Given the description of an element on the screen output the (x, y) to click on. 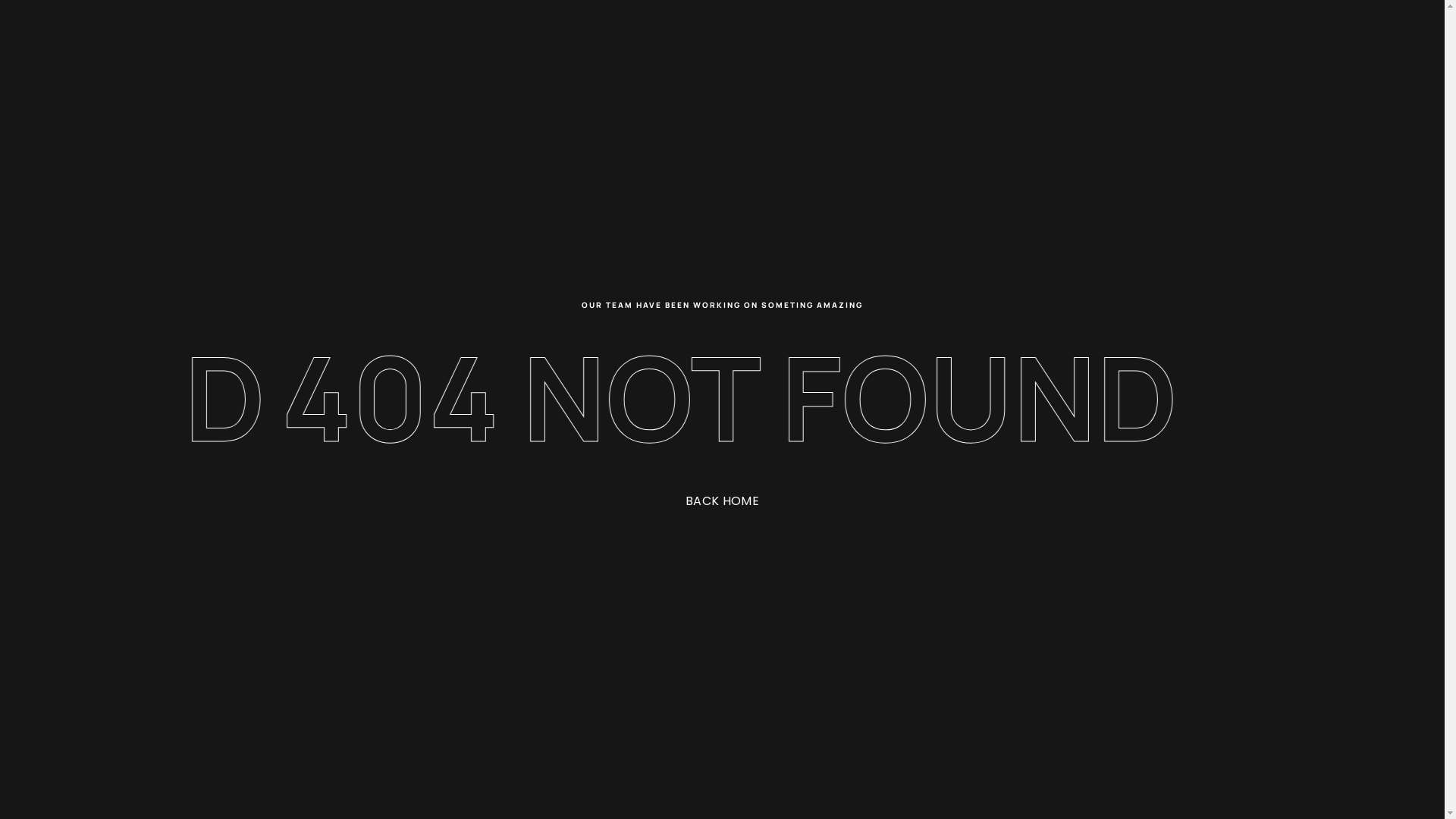
BACK HOME Element type: text (721, 500)
